Given the description of an element on the screen output the (x, y) to click on. 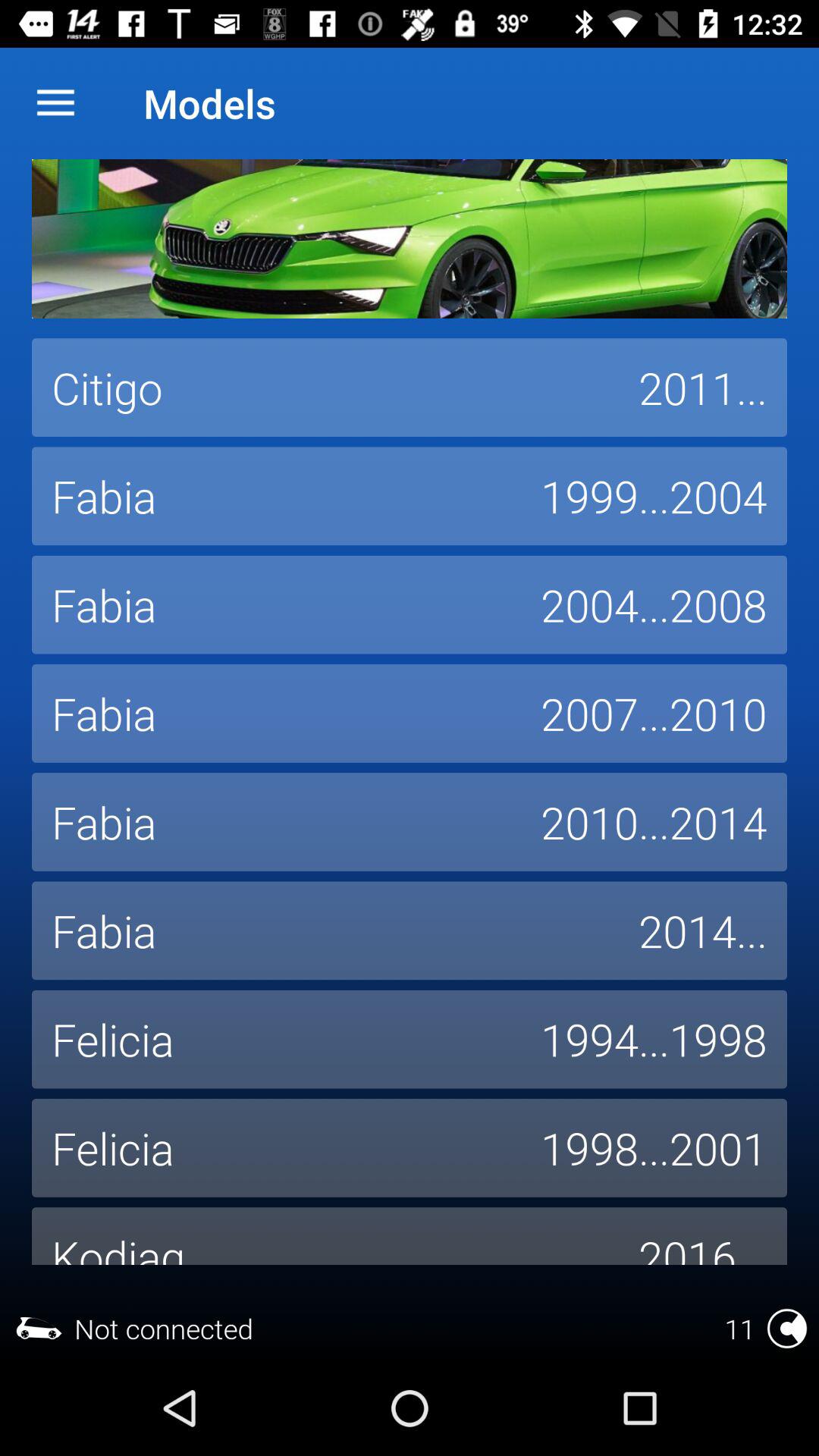
press the icon next to the kodiaq icon (702, 1235)
